Given the description of an element on the screen output the (x, y) to click on. 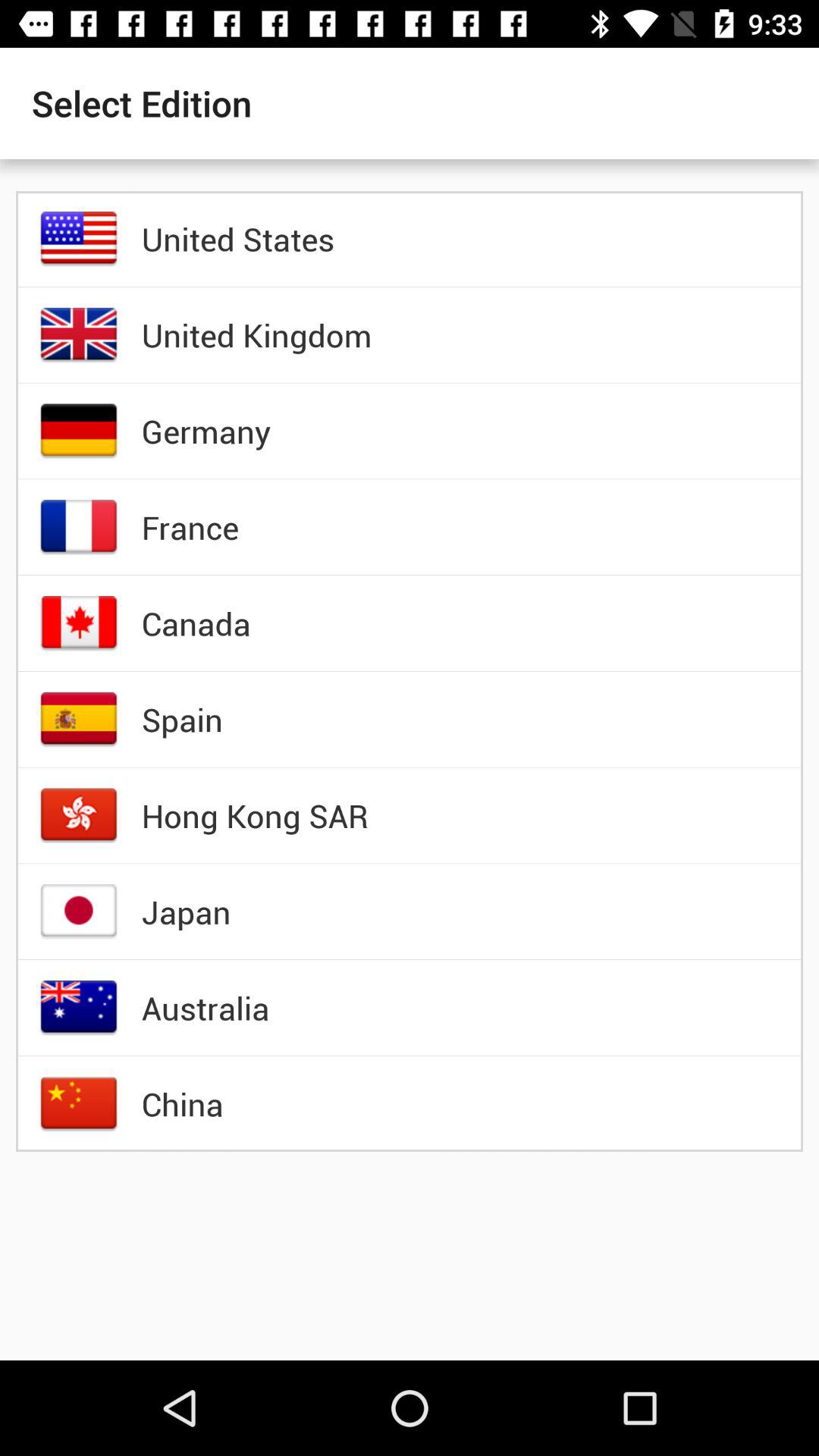
jump until france icon (189, 527)
